Given the description of an element on the screen output the (x, y) to click on. 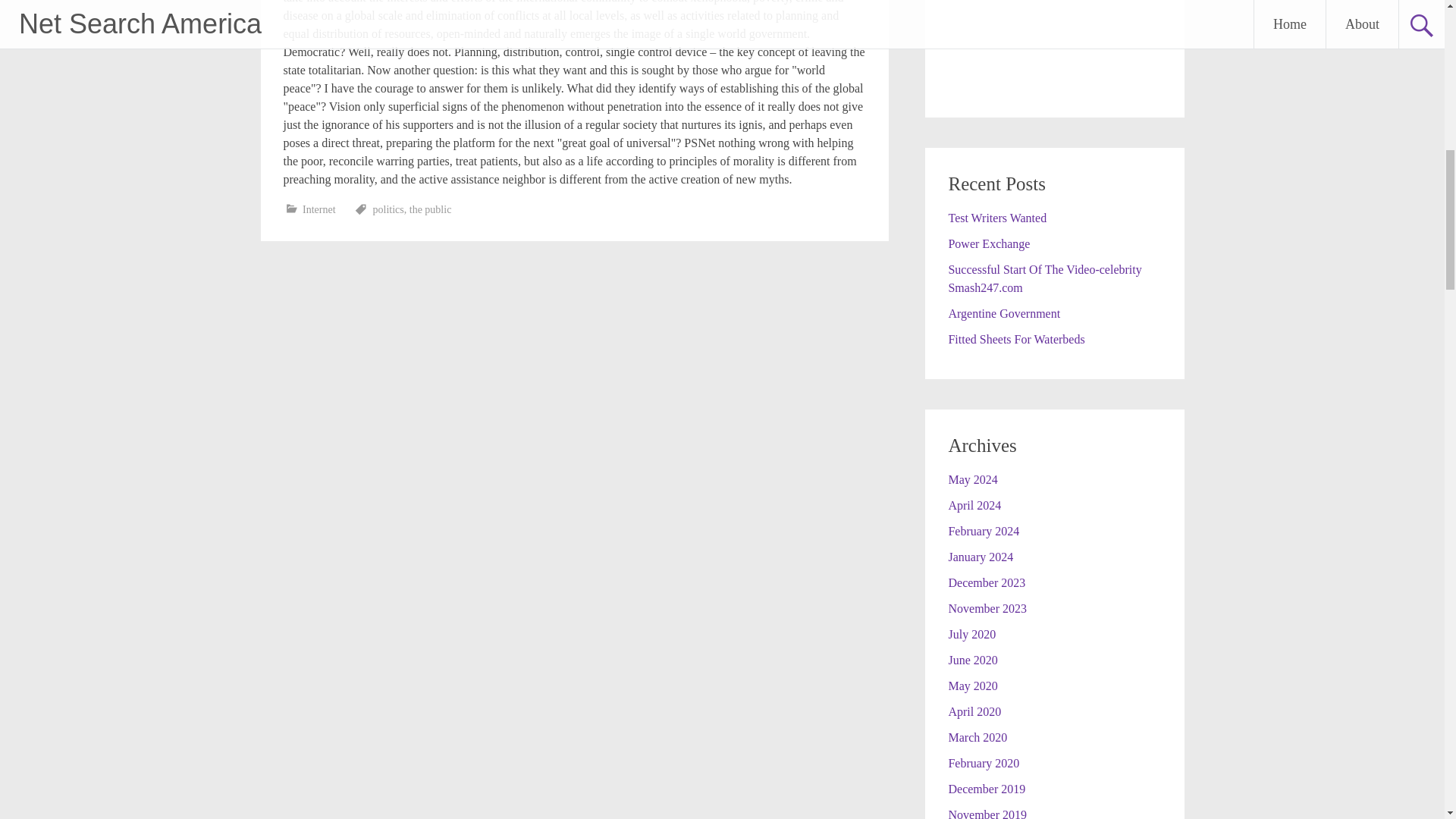
January 2024 (980, 556)
February 2020 (983, 762)
November 2019 (986, 813)
politics (388, 209)
February 2024 (983, 530)
December 2019 (986, 788)
May 2024 (972, 479)
July 2020 (971, 634)
April 2020 (974, 711)
May 2020 (972, 685)
March 2020 (977, 737)
December 2023 (986, 582)
Argentine Government (1003, 313)
June 2020 (972, 659)
Internet (319, 209)
